Given the description of an element on the screen output the (x, y) to click on. 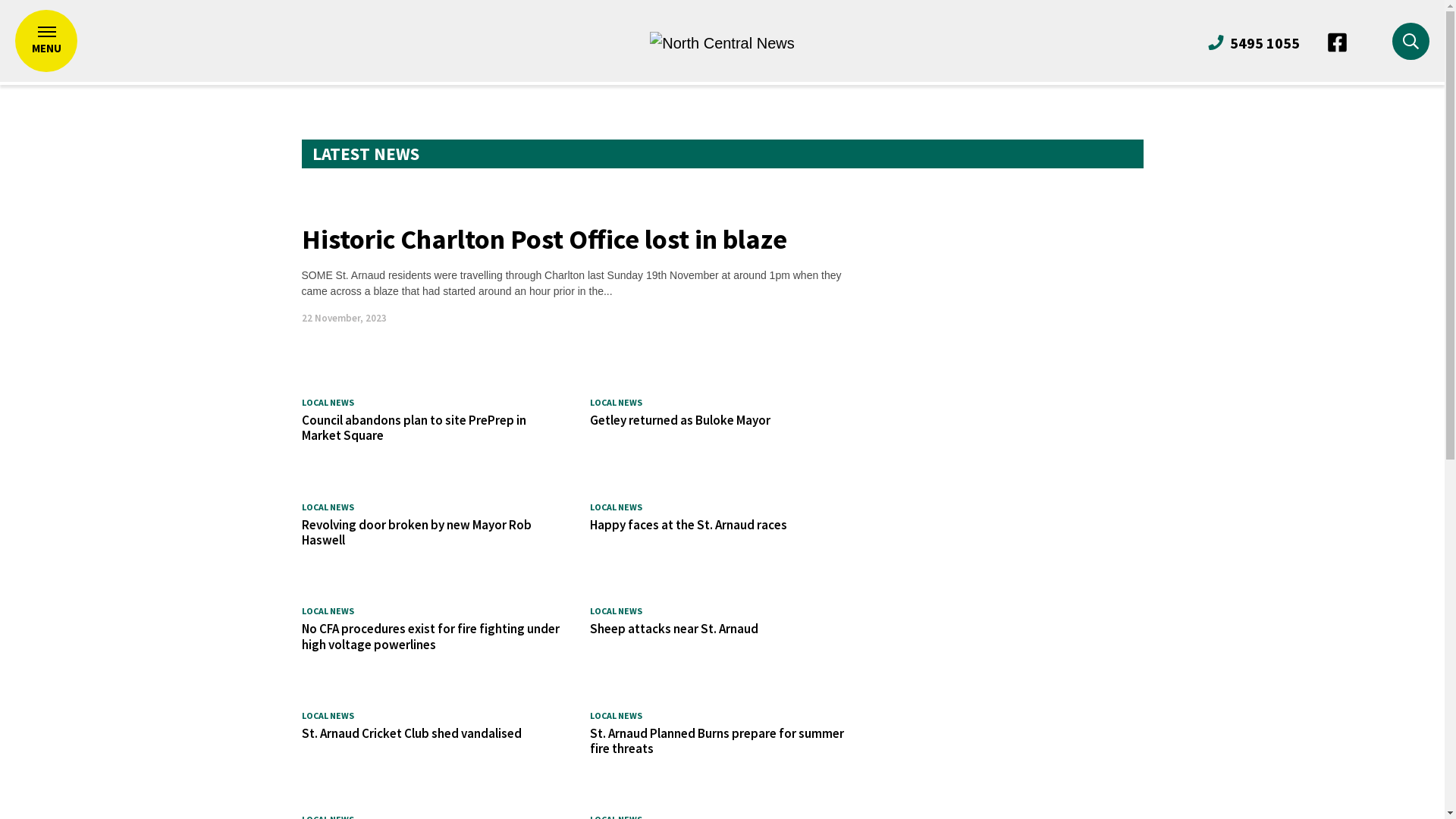
LOCAL NEWS Element type: text (615, 715)
MENU Element type: text (46, 40)
Sheep attacks near St. Arnaud Element type: text (673, 628)
5495 1055 Element type: text (1252, 42)
Council abandons plan to site PrePrep in Market Square Element type: text (413, 427)
LOCAL NEWS Element type: text (327, 506)
Historic Charlton Post Office lost in blaze Element type: text (544, 239)
LOCAL NEWS Element type: text (327, 715)
LOCAL NEWS Element type: text (615, 506)
Happy faces at the St. Arnaud races Element type: text (688, 524)
Go Element type: text (1042, 121)
St. Arnaud Planned Burns prepare for summer fire threats Element type: text (716, 740)
LOCAL NEWS Element type: text (615, 401)
Revolving door broken by new Mayor Rob Haswell Element type: text (416, 532)
St. Arnaud Cricket Club shed vandalised Element type: text (411, 732)
LOCAL NEWS Element type: text (327, 401)
LOCAL NEWS Element type: text (615, 610)
Getley returned as Buloke Mayor Element type: text (679, 419)
LOCAL NEWS Element type: text (327, 610)
